Given the description of an element on the screen output the (x, y) to click on. 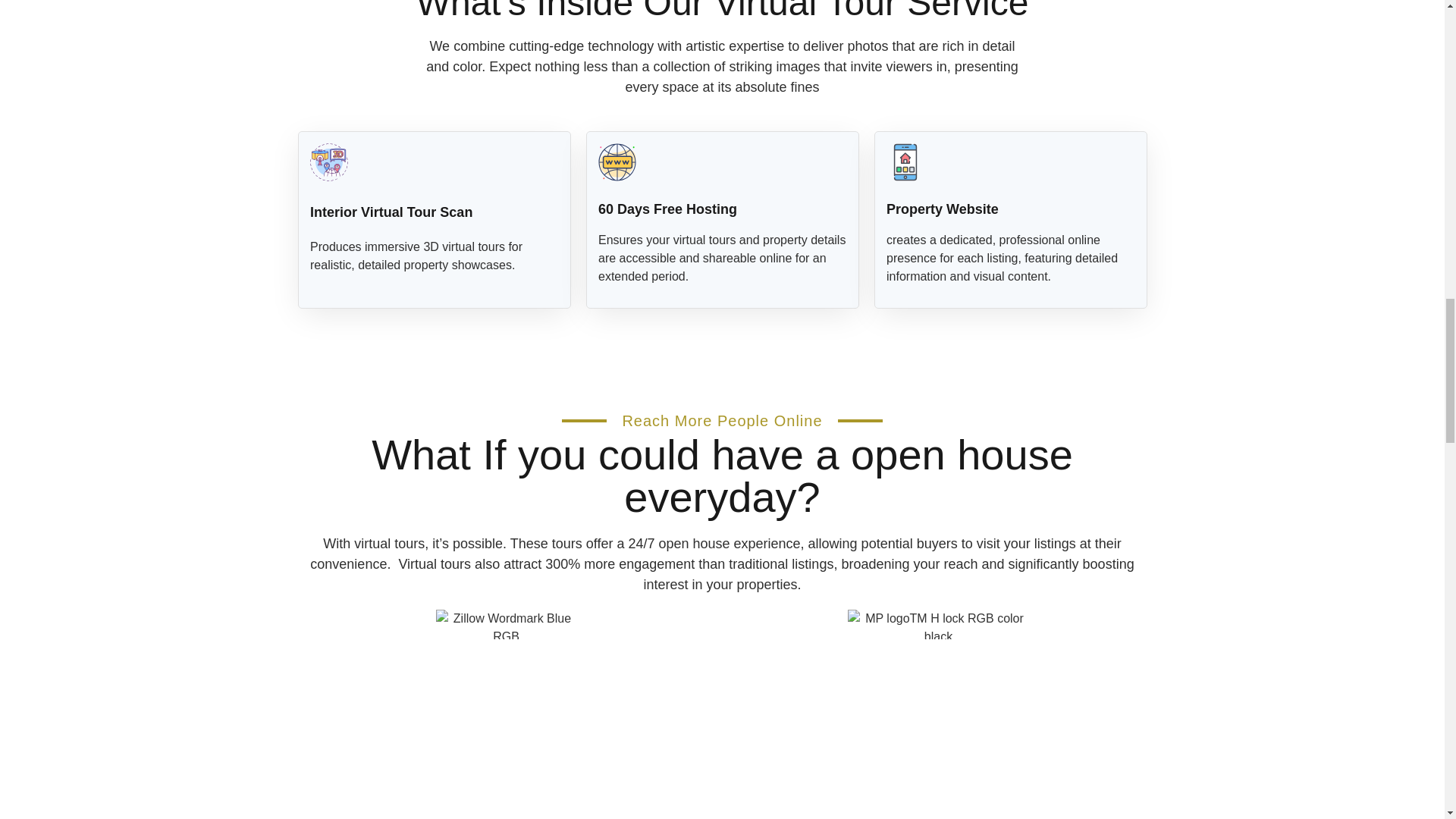
60 Days Free Hosting (666, 209)
Property Website (941, 209)
Interior Virtual Tour Scan (389, 212)
